Given the description of an element on the screen output the (x, y) to click on. 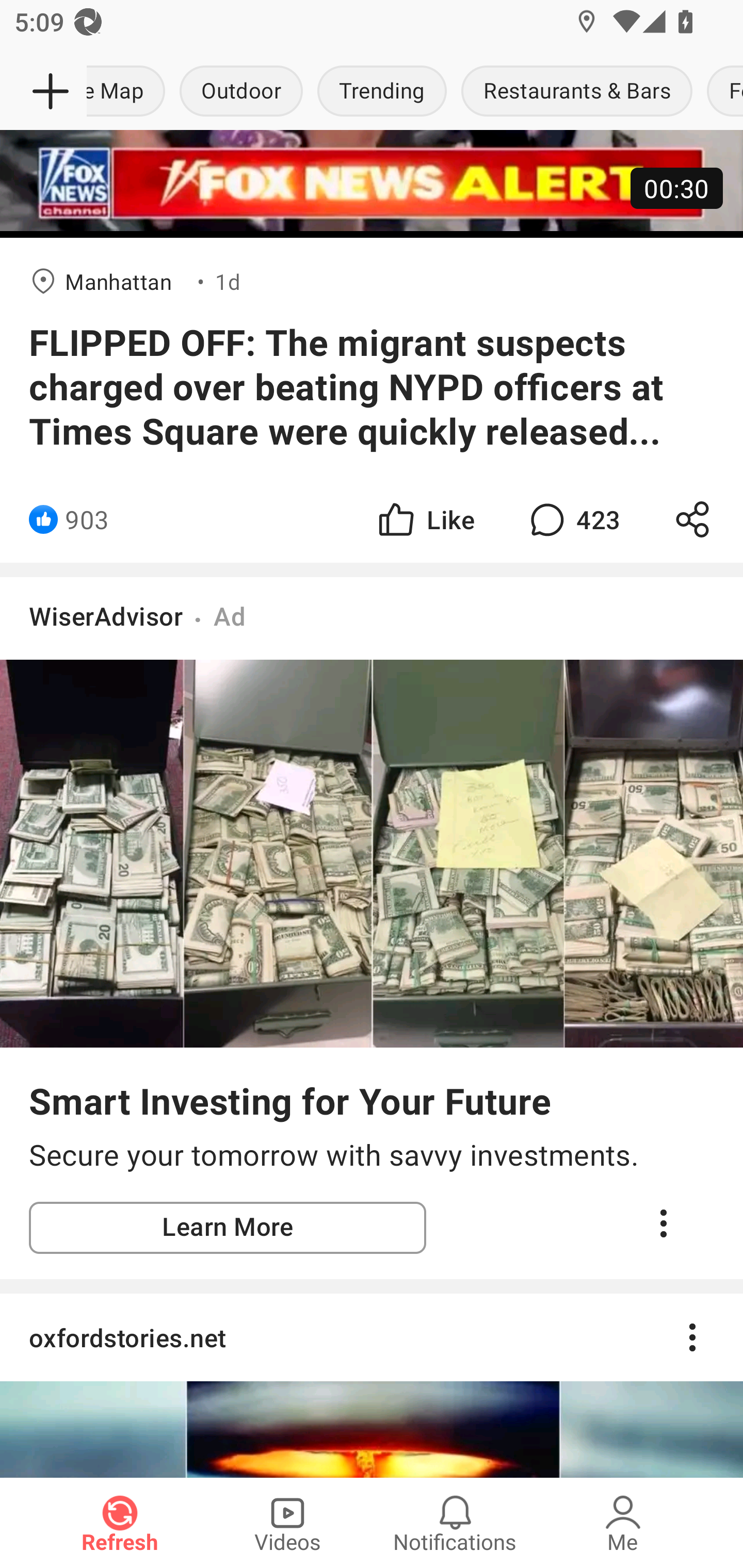
Outdoor (240, 91)
Trending (381, 91)
Restaurants & Bars (576, 91)
903 (87, 519)
Like (425, 519)
423 (572, 519)
WiserAdvisor (105, 615)
Smart Investing for Your Future (289, 1100)
Secure your tomorrow with savvy investments. (371, 1155)
Learn More (227, 1227)
oxfordstories.net (371, 1337)
Videos (287, 1522)
Notifications (455, 1522)
Me (622, 1522)
